Given the description of an element on the screen output the (x, y) to click on. 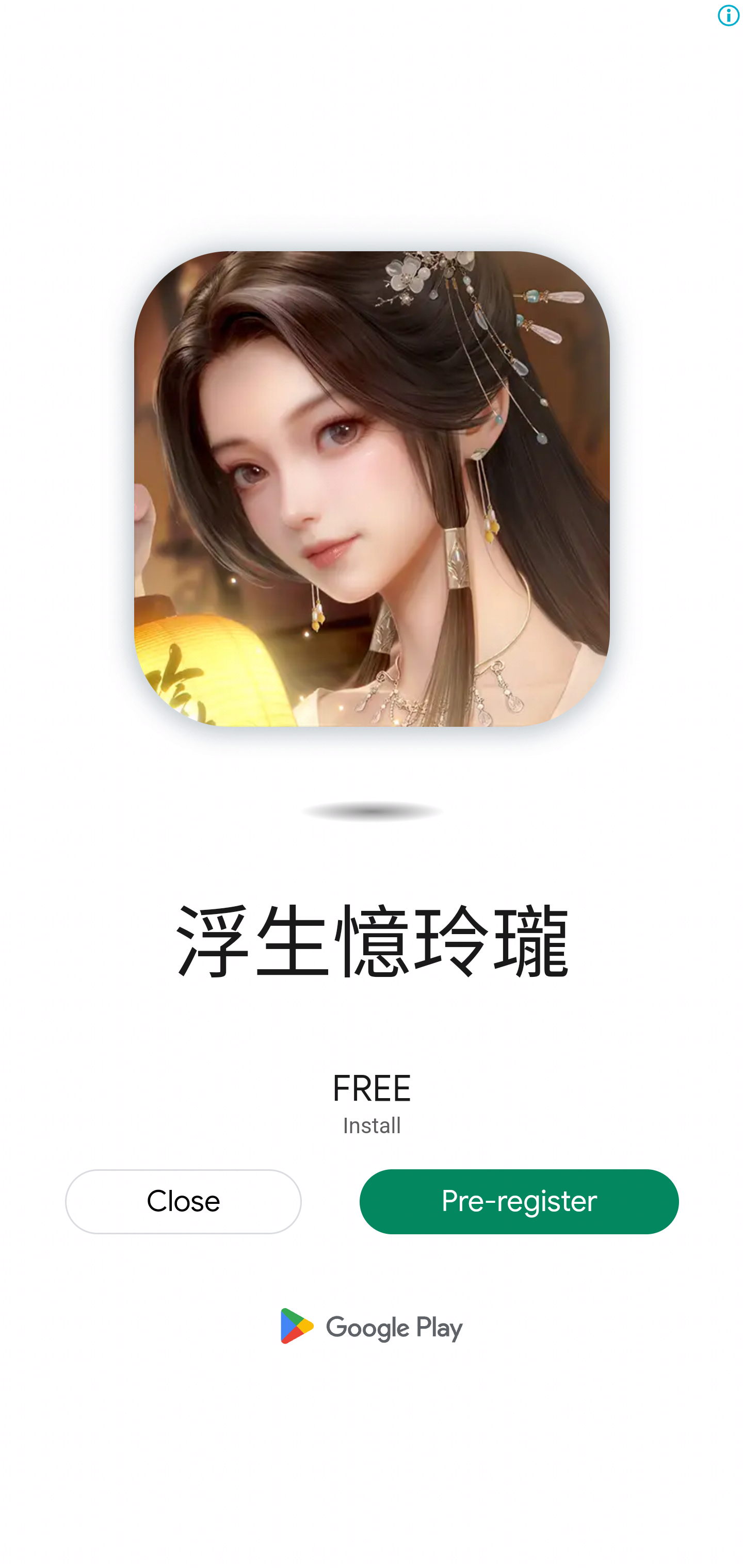
Close (184, 1201)
Pre-register (519, 1201)
